Given the description of an element on the screen output the (x, y) to click on. 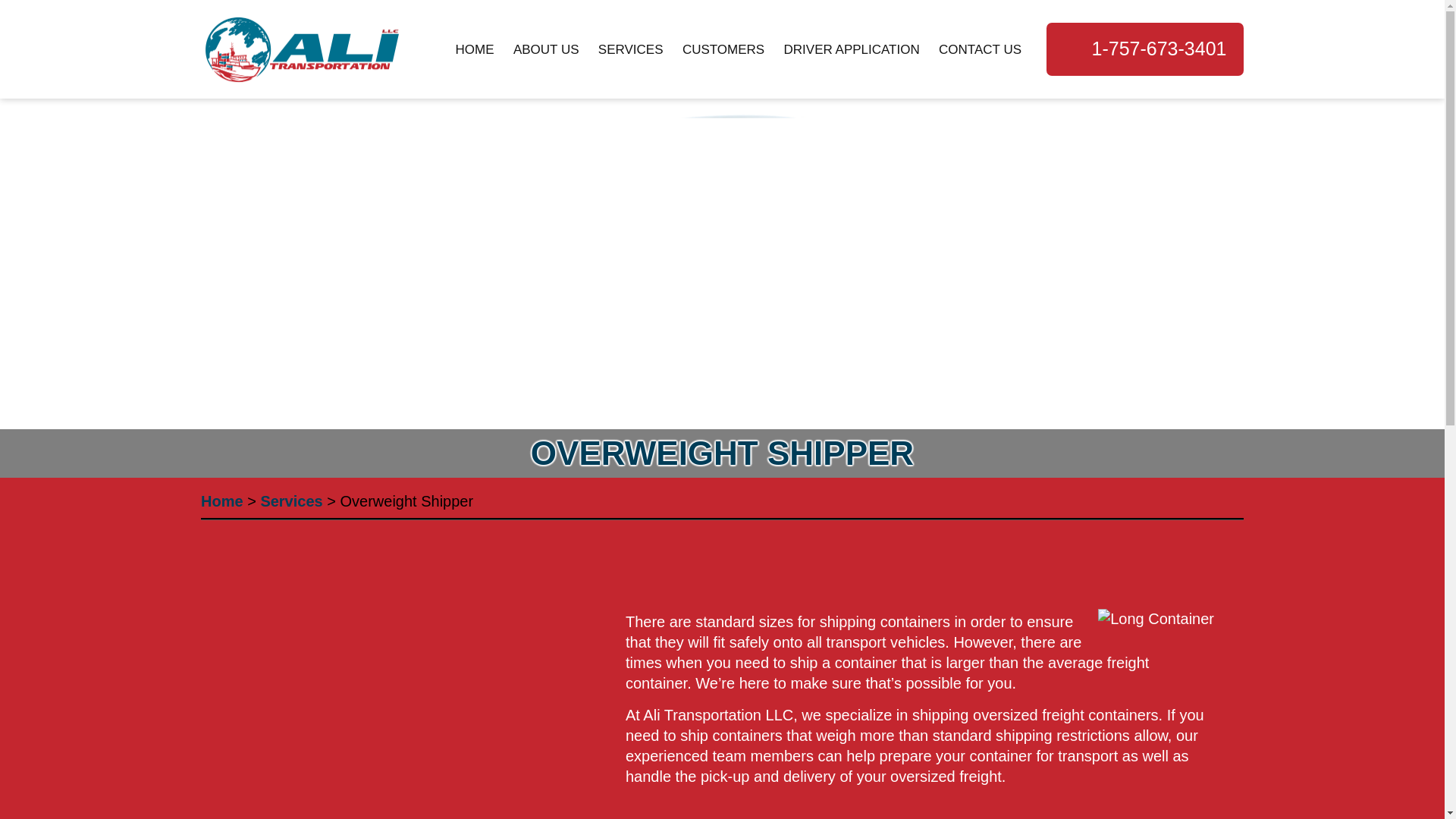
ABOUT US (545, 49)
Services (290, 501)
CONTACT US (976, 49)
DRIVER APPLICATION (851, 49)
HOME (478, 49)
CUSTOMERS (723, 49)
Go to Services. (290, 501)
SERVICES (630, 49)
Home (221, 501)
